Given the description of an element on the screen output the (x, y) to click on. 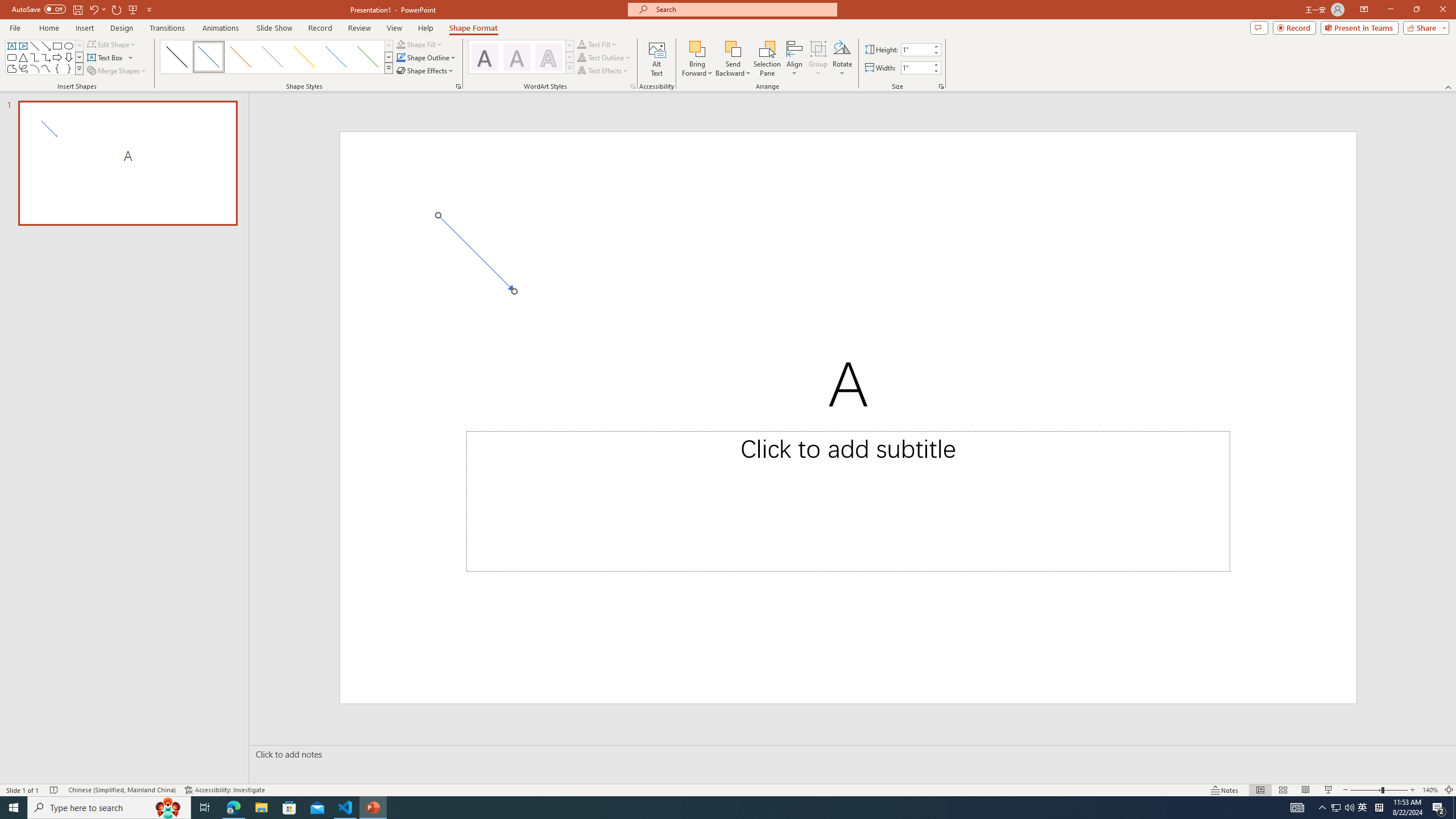
Subtle Line - Accent 4 (304, 56)
Text Effects (603, 69)
Selection Pane... (767, 58)
Bring Forward (697, 58)
Merge Shapes (117, 69)
Draw Horizontal Text Box (105, 56)
Send Backward (733, 48)
